Given the description of an element on the screen output the (x, y) to click on. 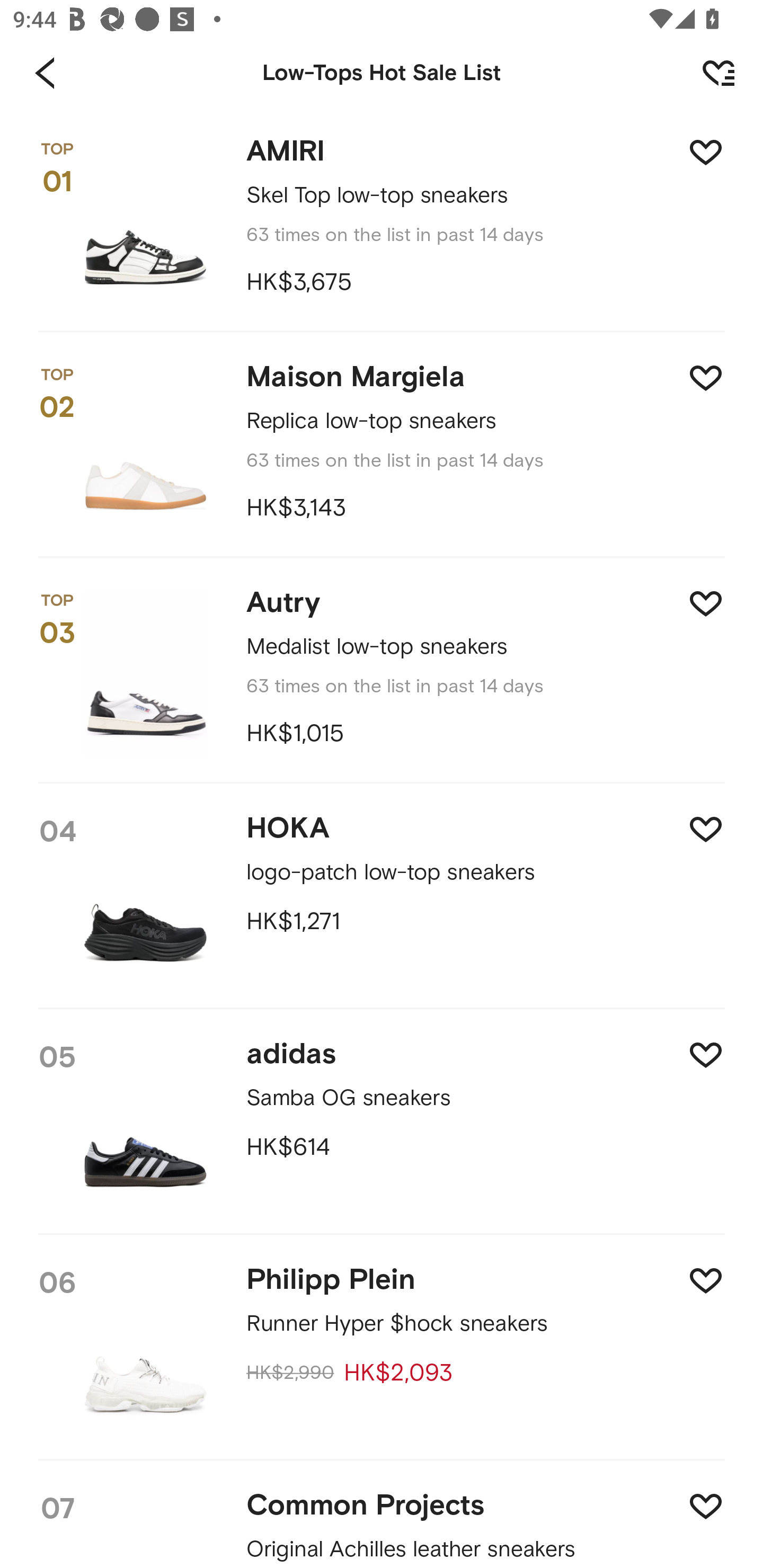
04 HOKA logo-patch low-top sneakers HK$1,271 (381, 897)
05 adidas Samba OG sneakers HK$614 (381, 1123)
